Given the description of an element on the screen output the (x, y) to click on. 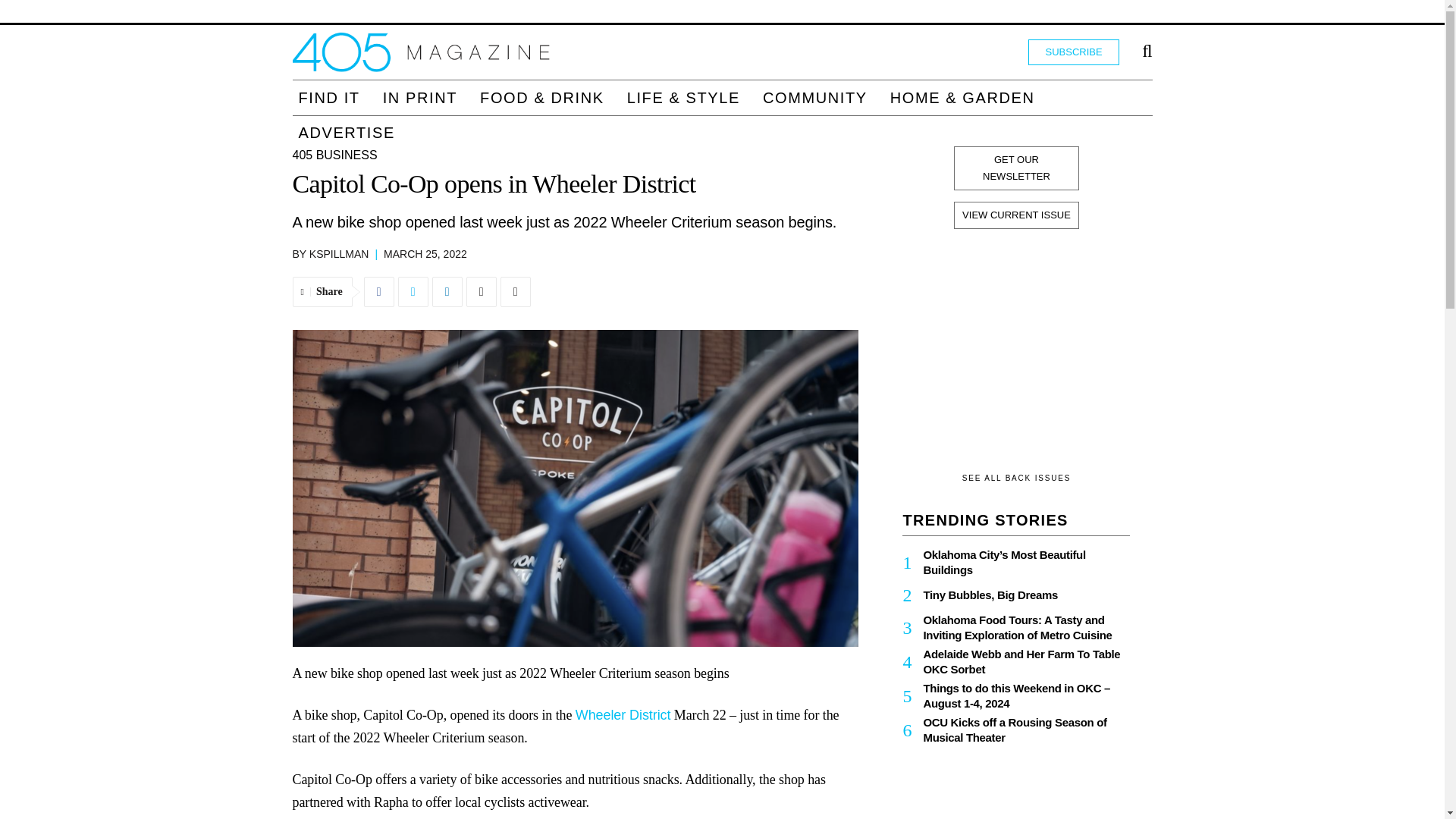
Find It (329, 97)
In Print (420, 97)
